Given the description of an element on the screen output the (x, y) to click on. 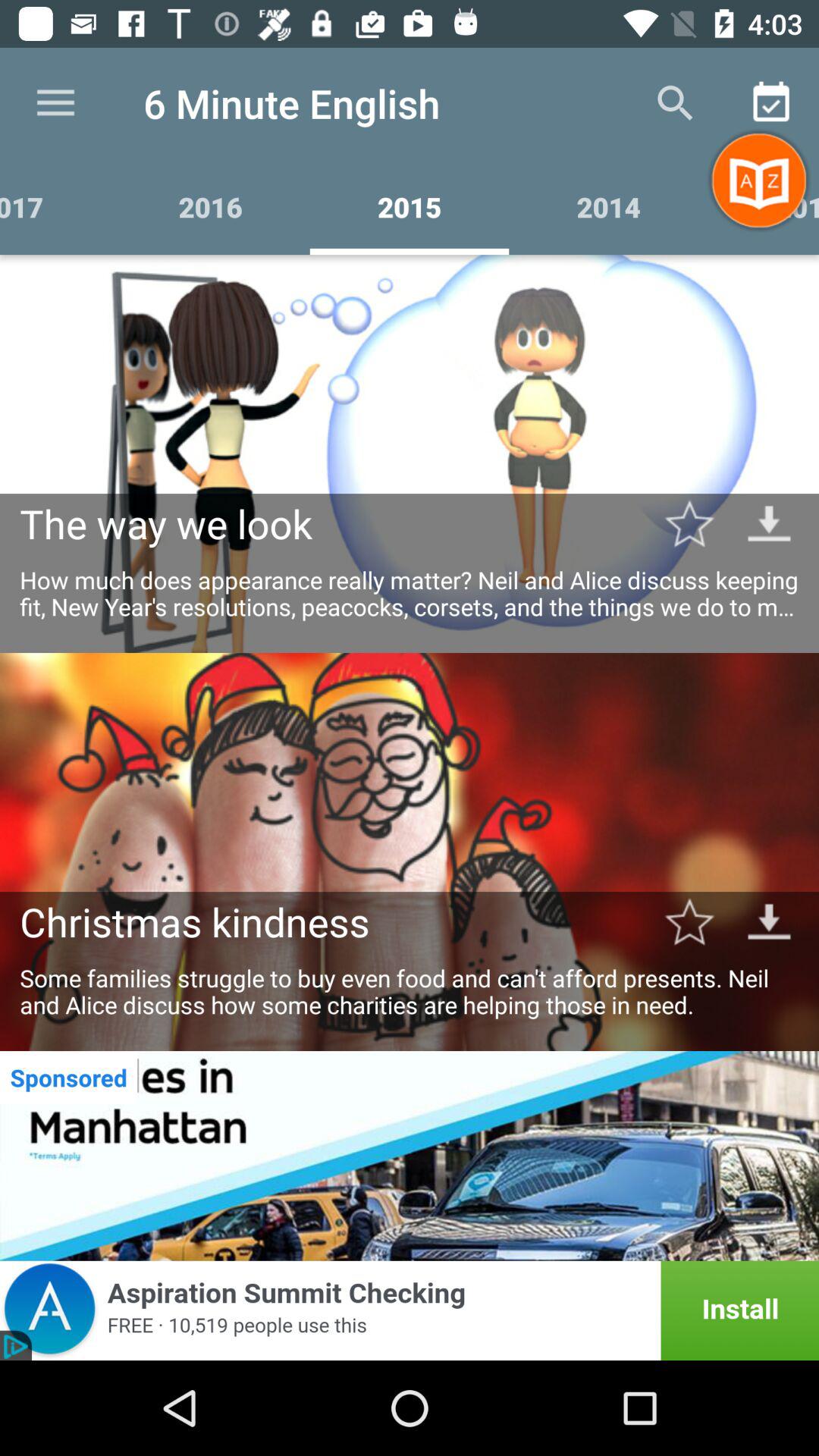
go down (769, 523)
